Given the description of an element on the screen output the (x, y) to click on. 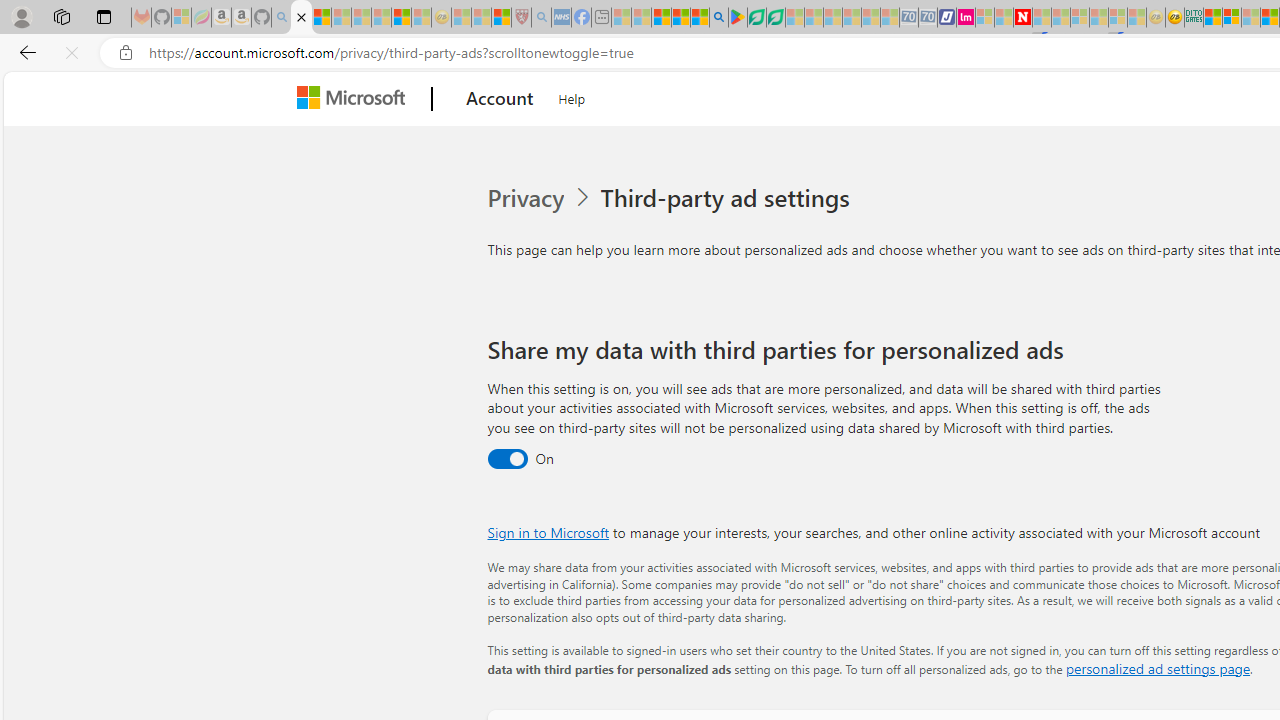
Bluey: Let's Play! - Apps on Google Play (737, 17)
Account (499, 99)
Local - MSN (500, 17)
